Given the description of an element on the screen output the (x, y) to click on. 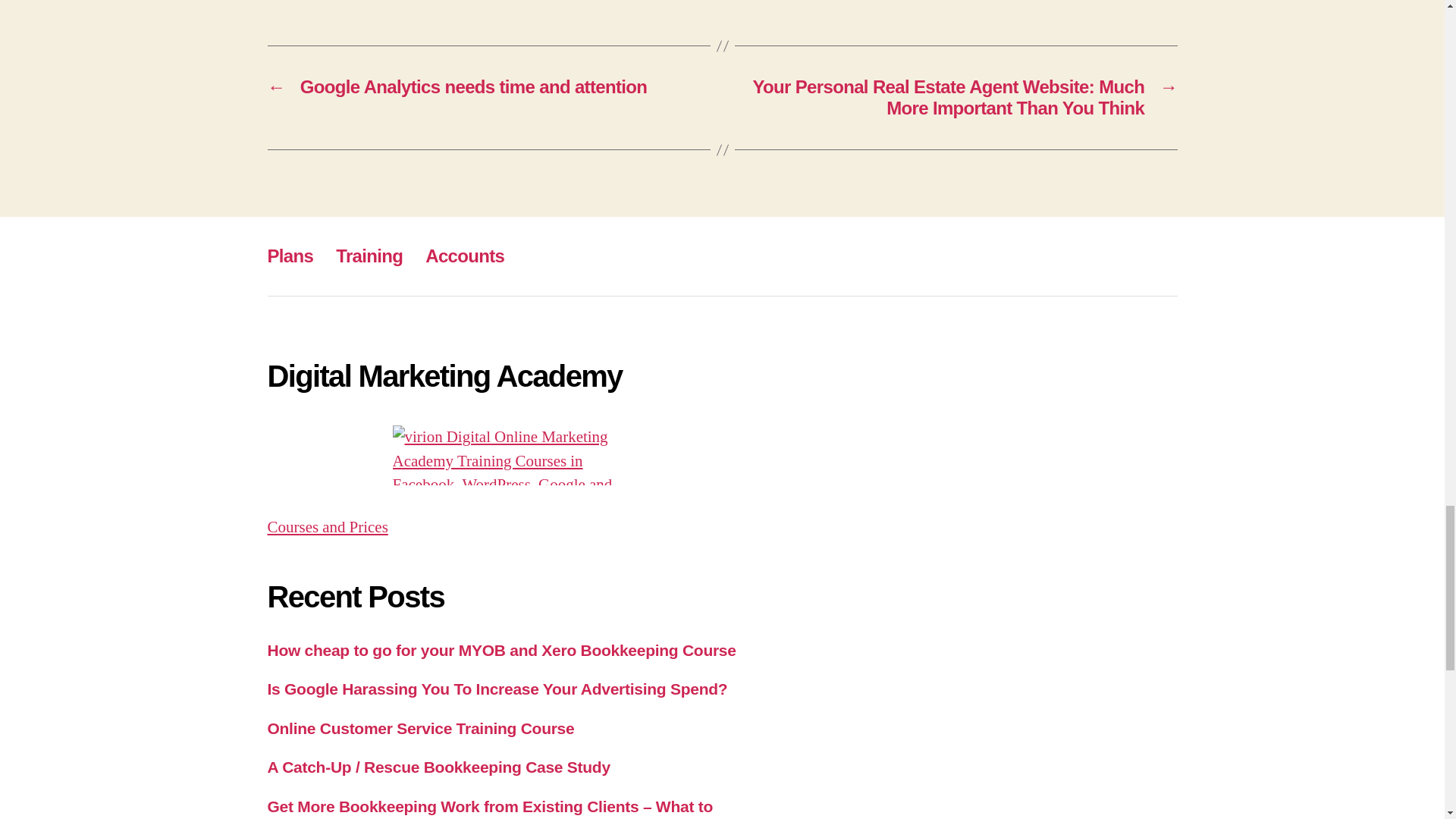
Courses and Prices (326, 526)
Plans (289, 255)
Training (369, 255)
Accounts (464, 255)
